Given the description of an element on the screen output the (x, y) to click on. 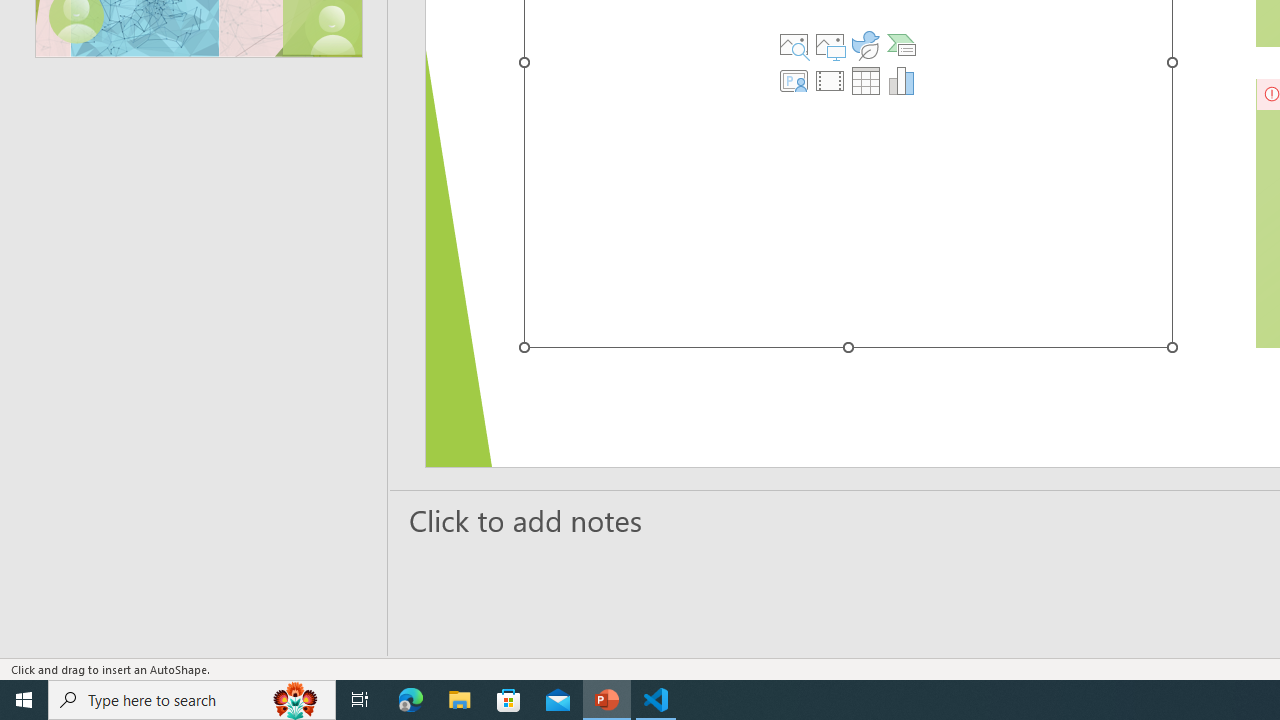
Insert Table (865, 80)
Pictures (830, 44)
Insert an Icon (865, 44)
Insert a SmartArt Graphic (901, 44)
Insert Video (830, 80)
Stock Images (794, 44)
Insert Cameo (794, 80)
Insert Chart (901, 80)
